Given the description of an element on the screen output the (x, y) to click on. 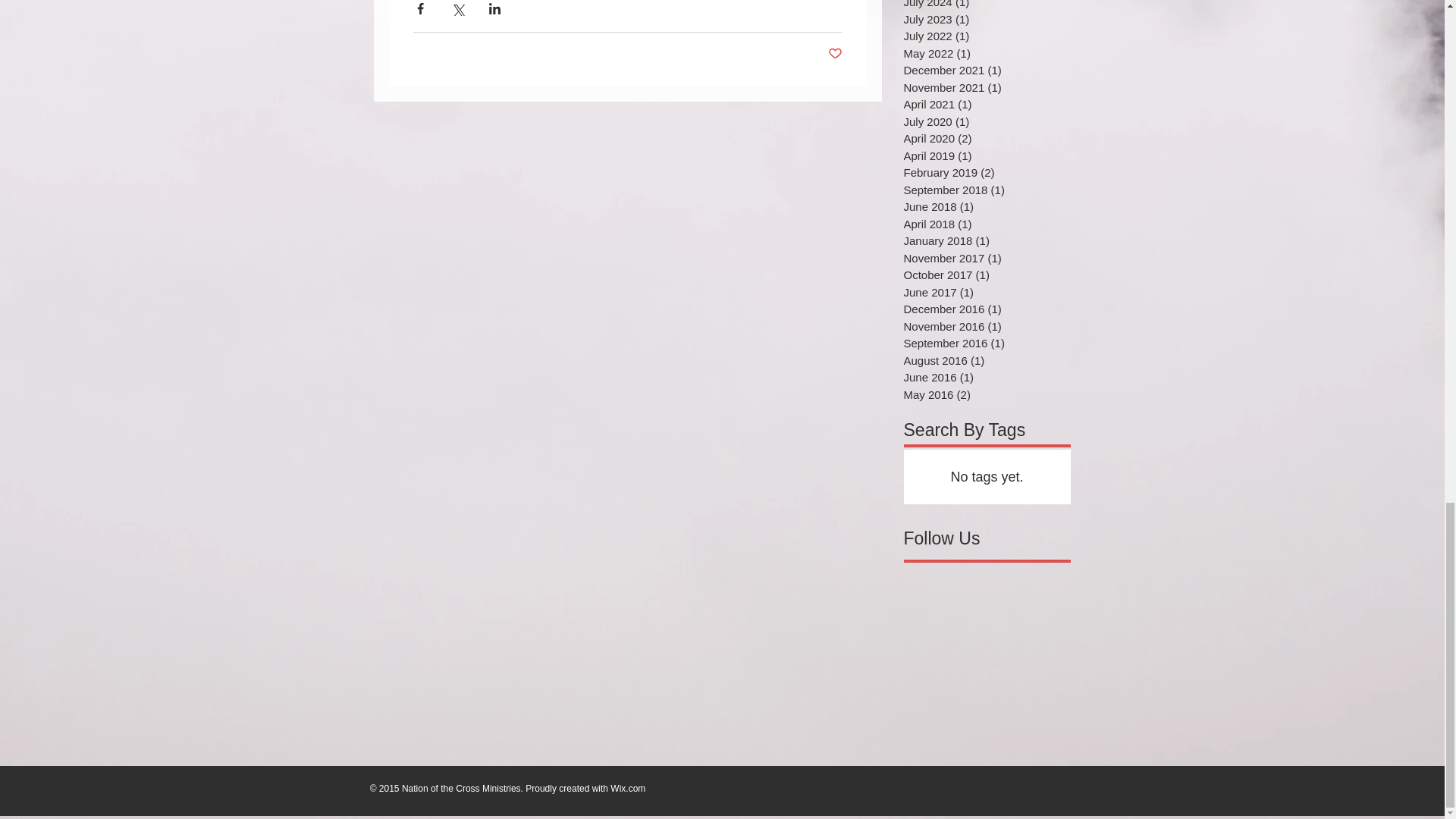
Post not marked as liked (835, 53)
